Given the description of an element on the screen output the (x, y) to click on. 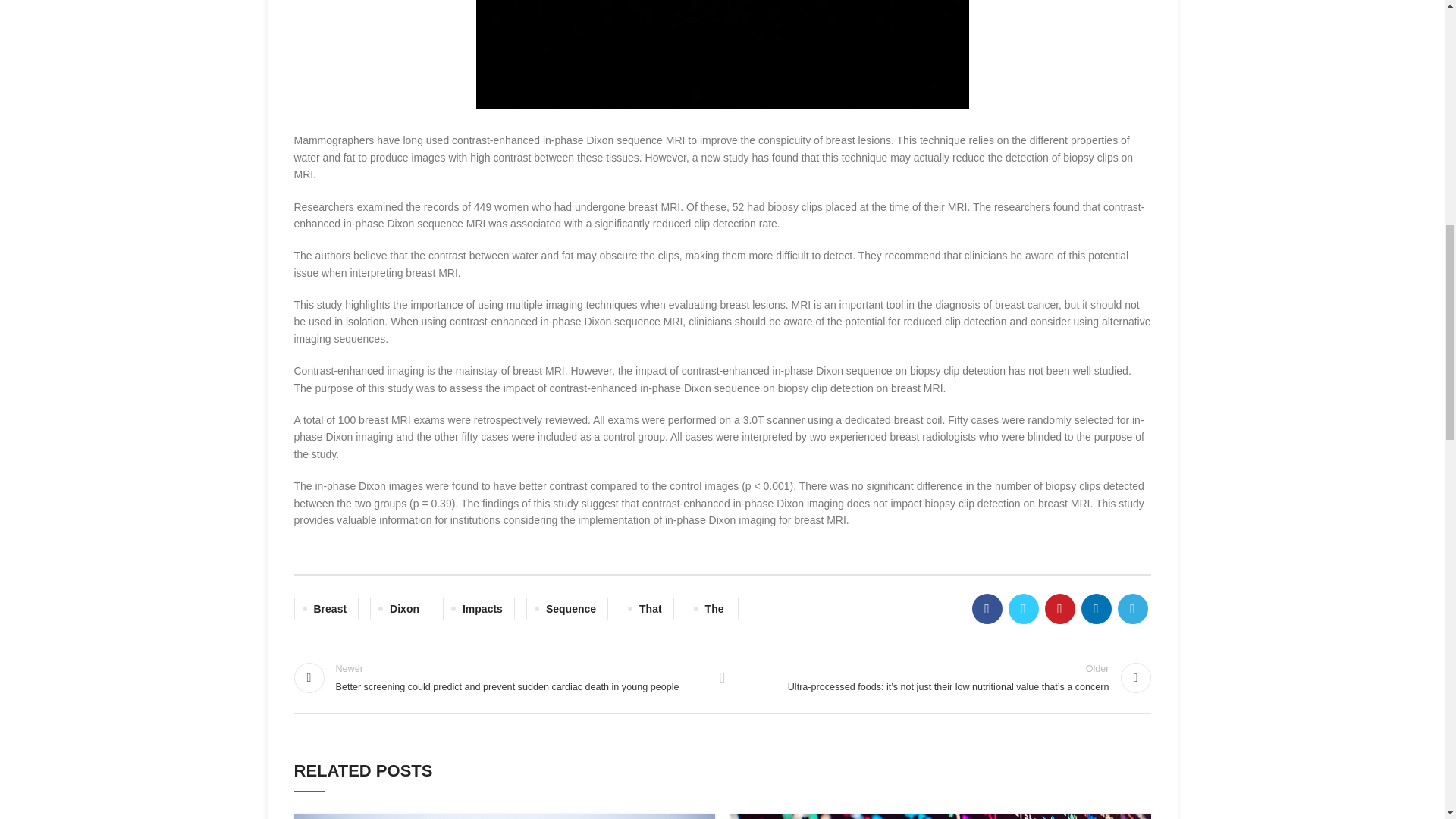
That (647, 608)
Sequence (566, 608)
Breast (326, 608)
Impacts (478, 608)
Dixon (399, 608)
